Given the description of an element on the screen output the (x, y) to click on. 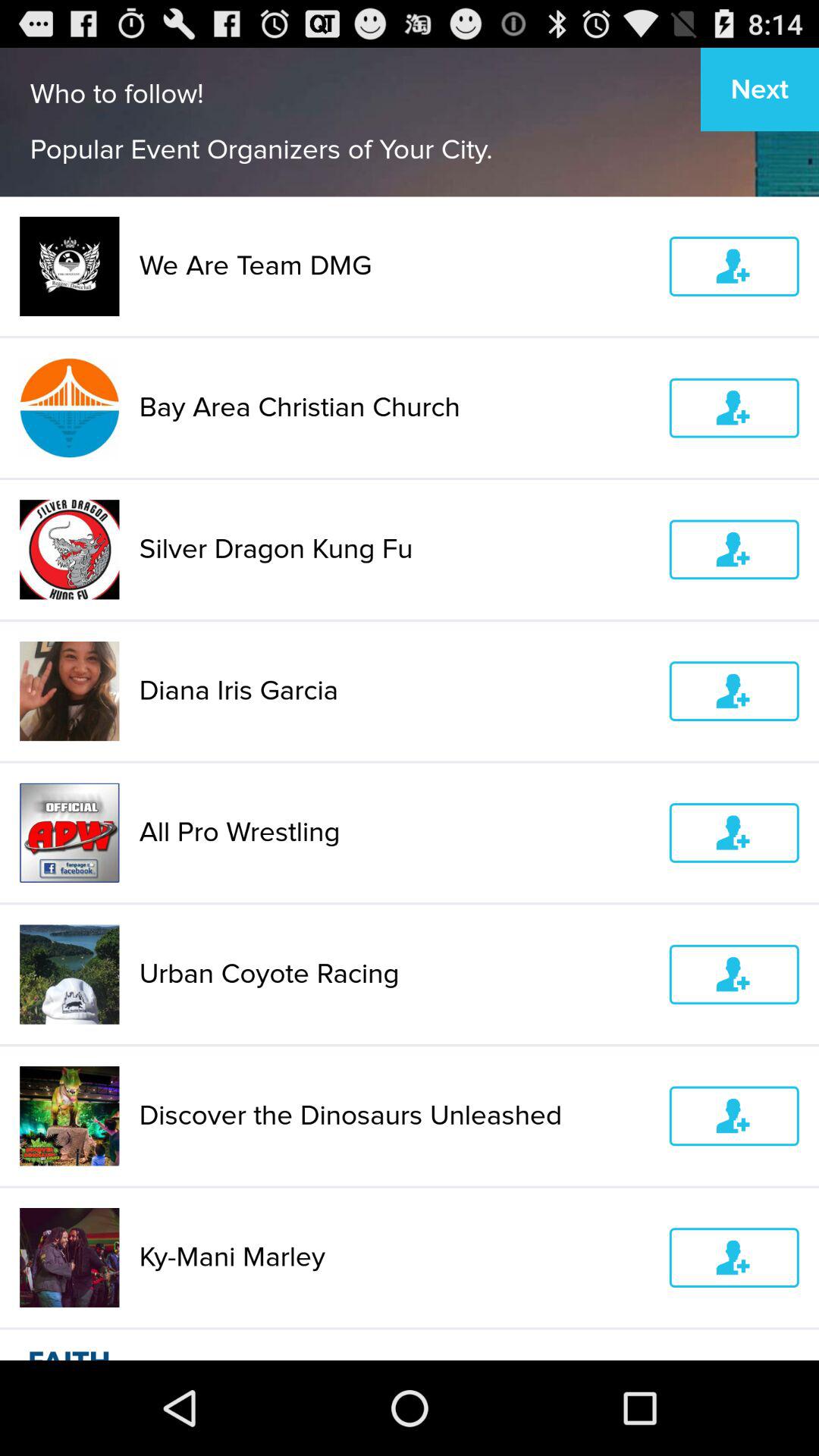
launch app below the bay area christian (394, 548)
